Given the description of an element on the screen output the (x, y) to click on. 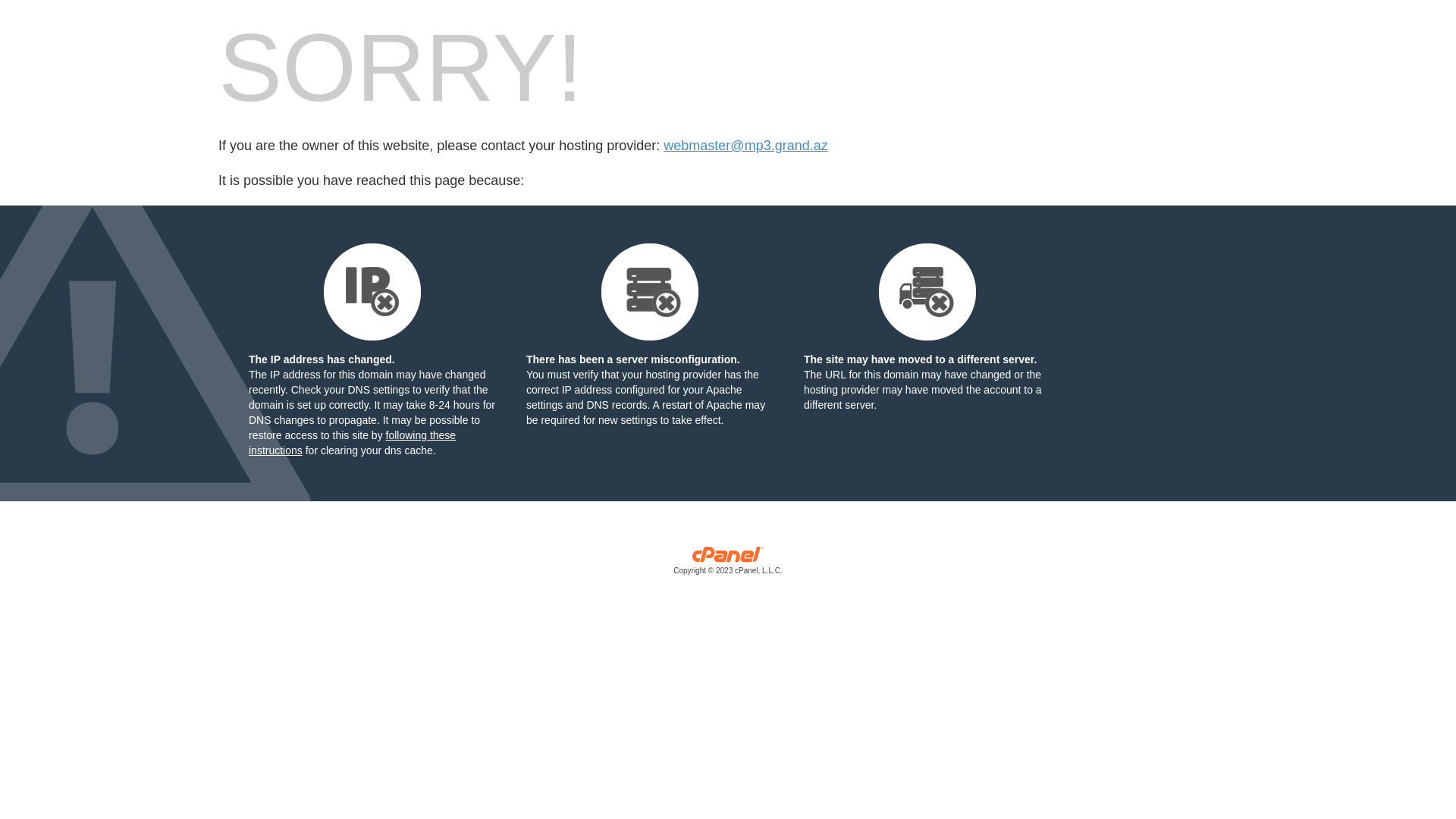
webmaster@mp3.grand.az Element type: text (745, 145)
following these instructions Element type: text (351, 442)
